Given the description of an element on the screen output the (x, y) to click on. 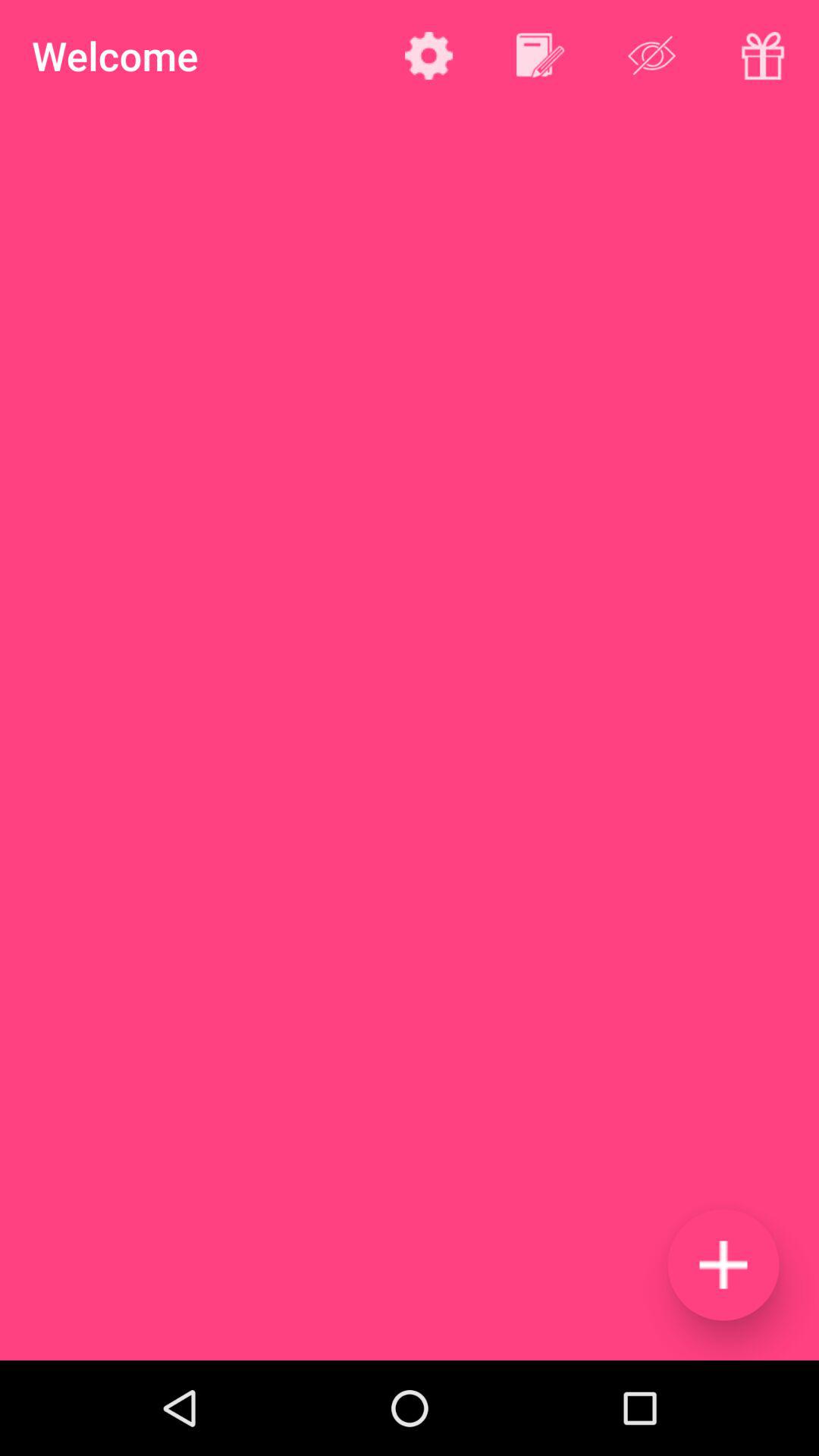
add a new item (723, 1264)
